Given the description of an element on the screen output the (x, y) to click on. 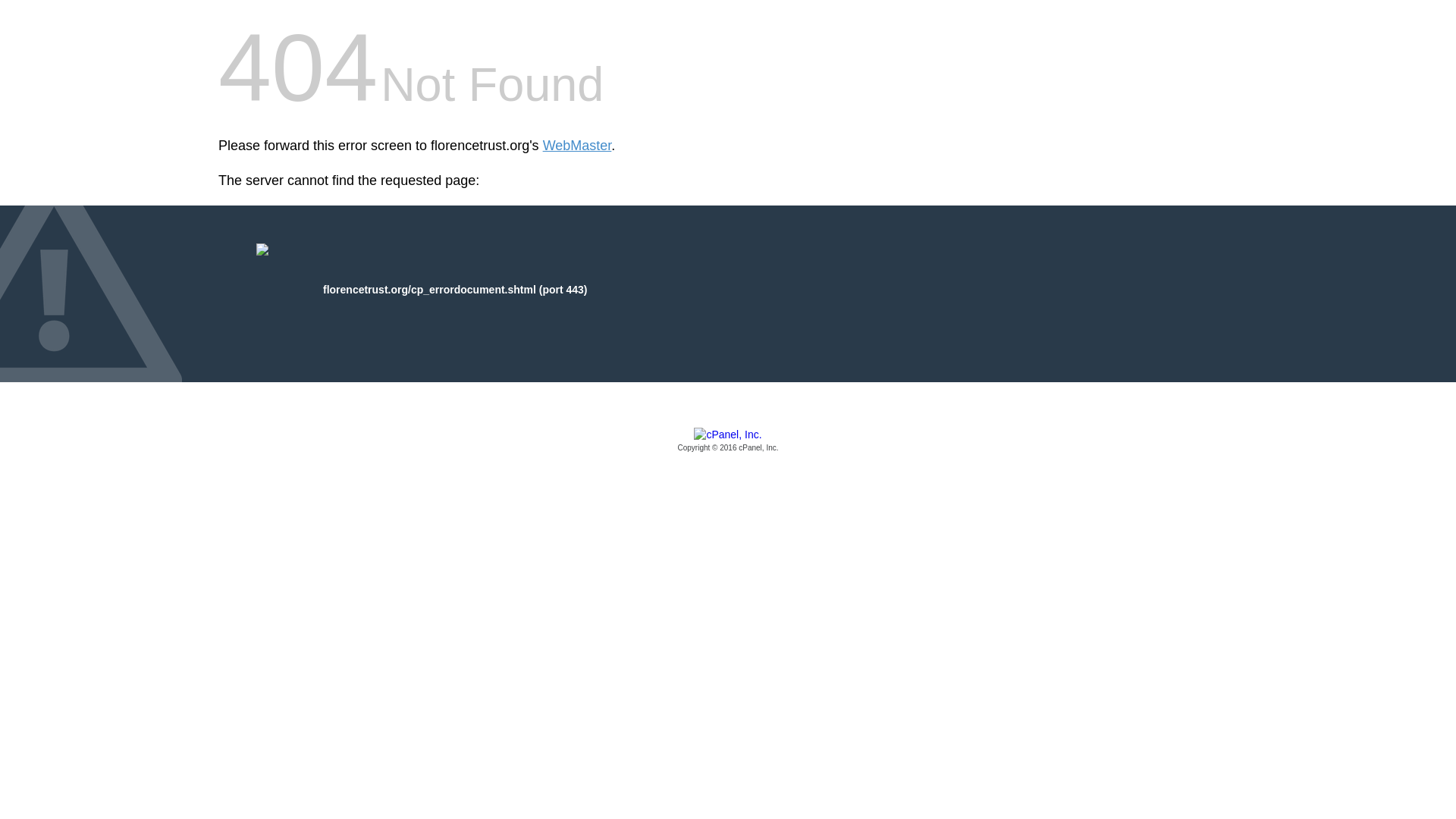
WebMaster (577, 145)
cPanel, Inc. (727, 440)
